Given the description of an element on the screen output the (x, y) to click on. 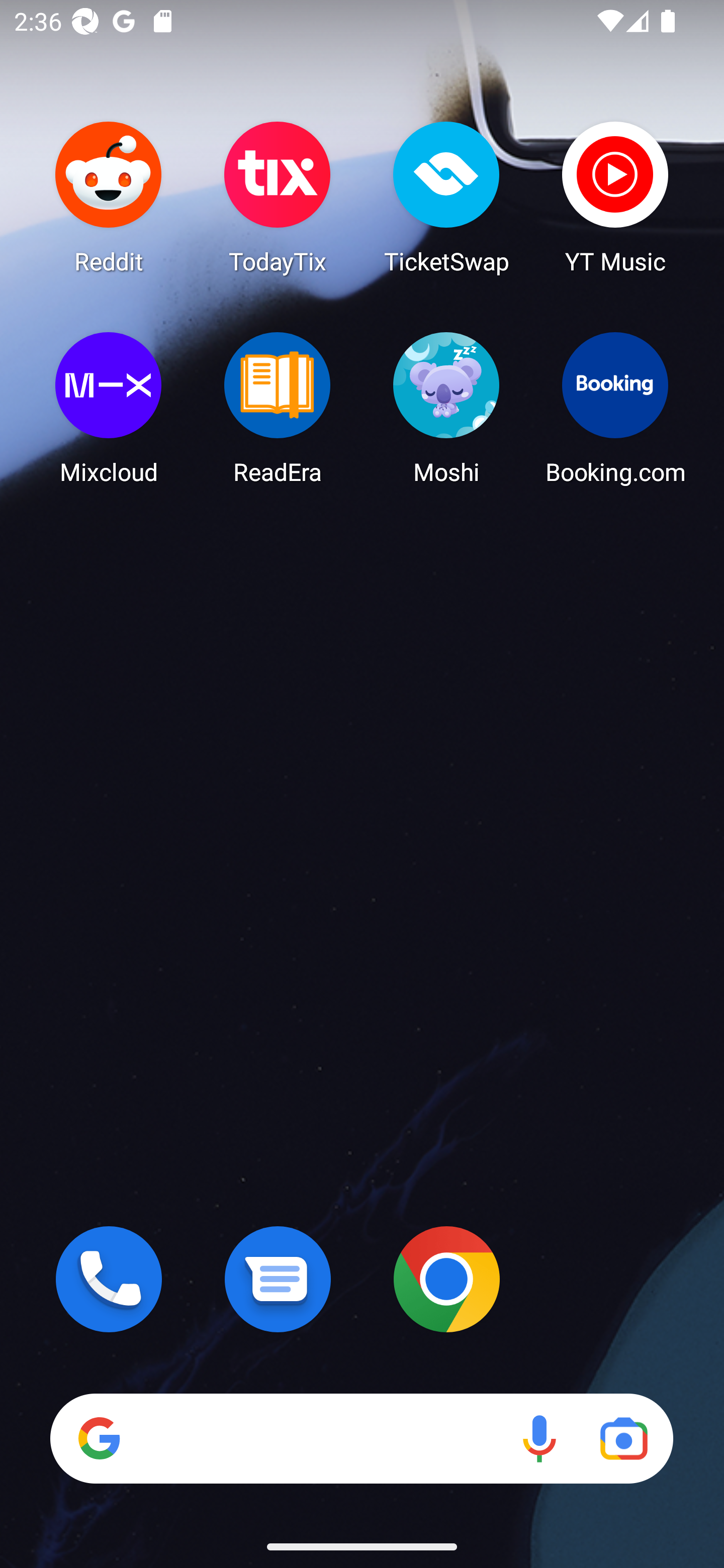
Reddit (108, 196)
TodayTix (277, 196)
TicketSwap (445, 196)
YT Music (615, 196)
Mixcloud (108, 407)
ReadEra (277, 407)
Moshi (445, 407)
Booking.com (615, 407)
Phone (108, 1279)
Messages (277, 1279)
Chrome (446, 1279)
Search Voice search Google Lens (361, 1438)
Voice search (539, 1438)
Google Lens (623, 1438)
